Given the description of an element on the screen output the (x, y) to click on. 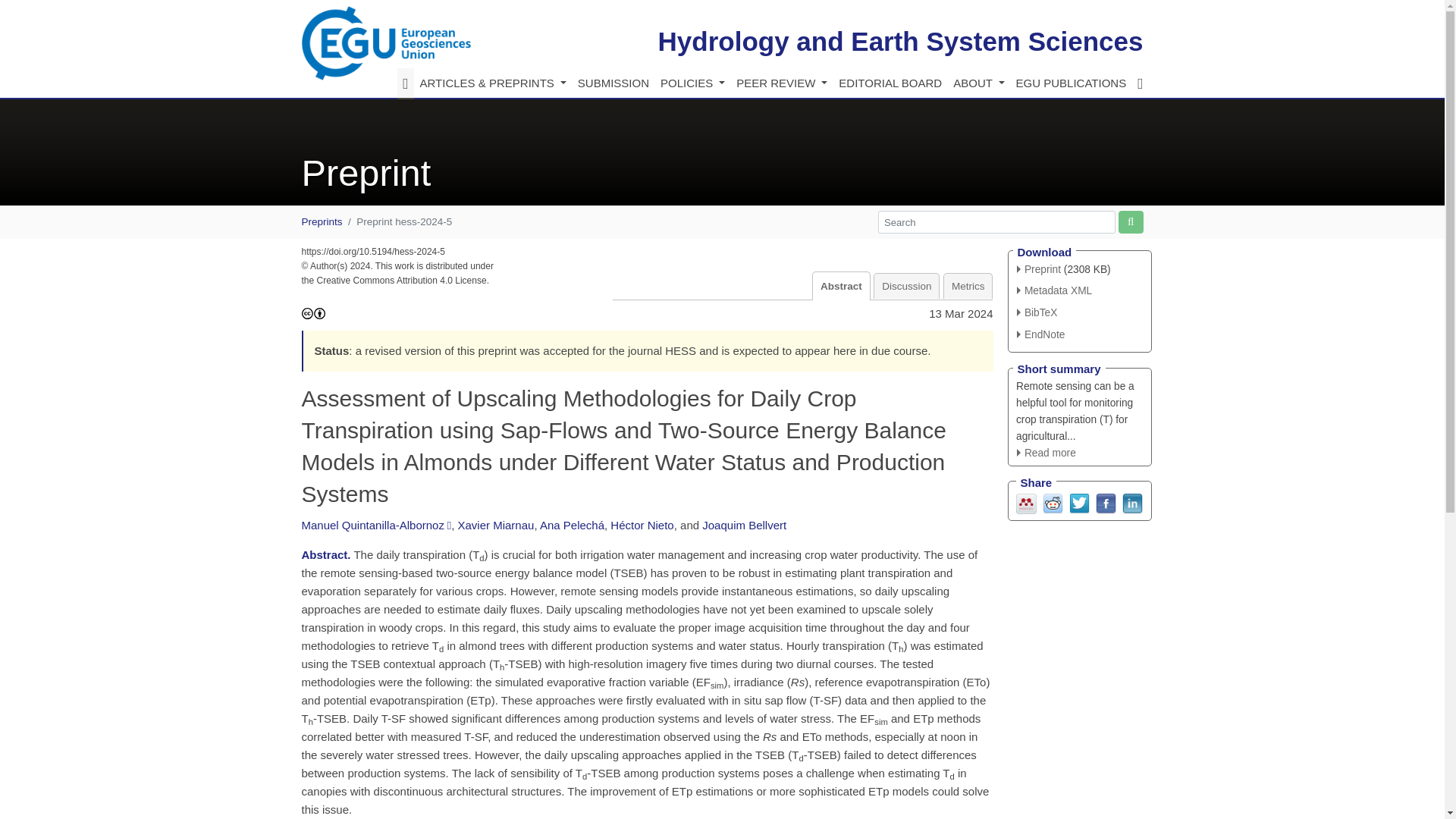
POLICIES (691, 83)
Hydrology and Earth System Sciences (900, 41)
SUBMISSION (612, 83)
PEER REVIEW (781, 83)
Start site search (1130, 221)
